Given the description of an element on the screen output the (x, y) to click on. 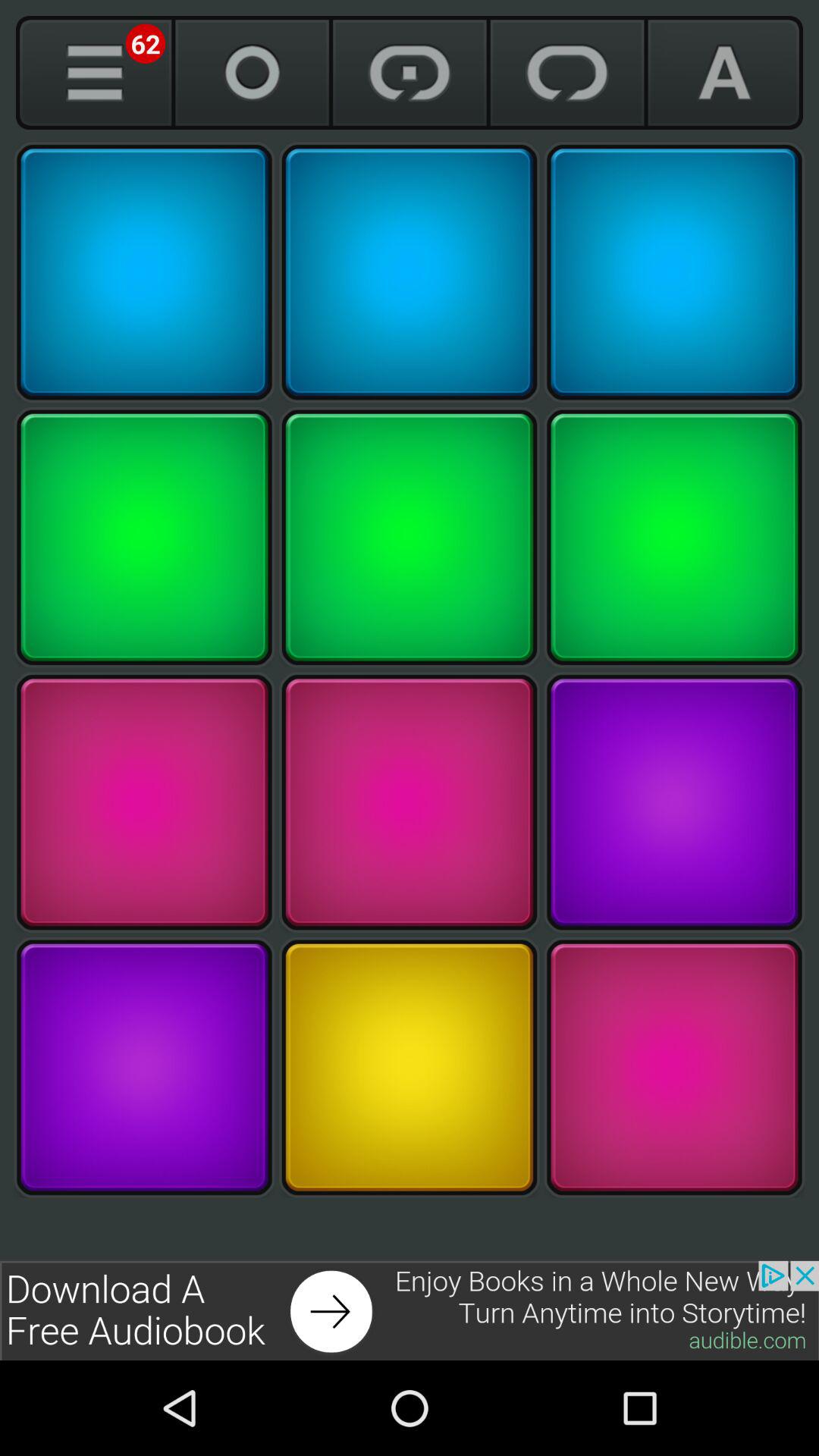
show more colours (94, 72)
